Given the description of an element on the screen output the (x, y) to click on. 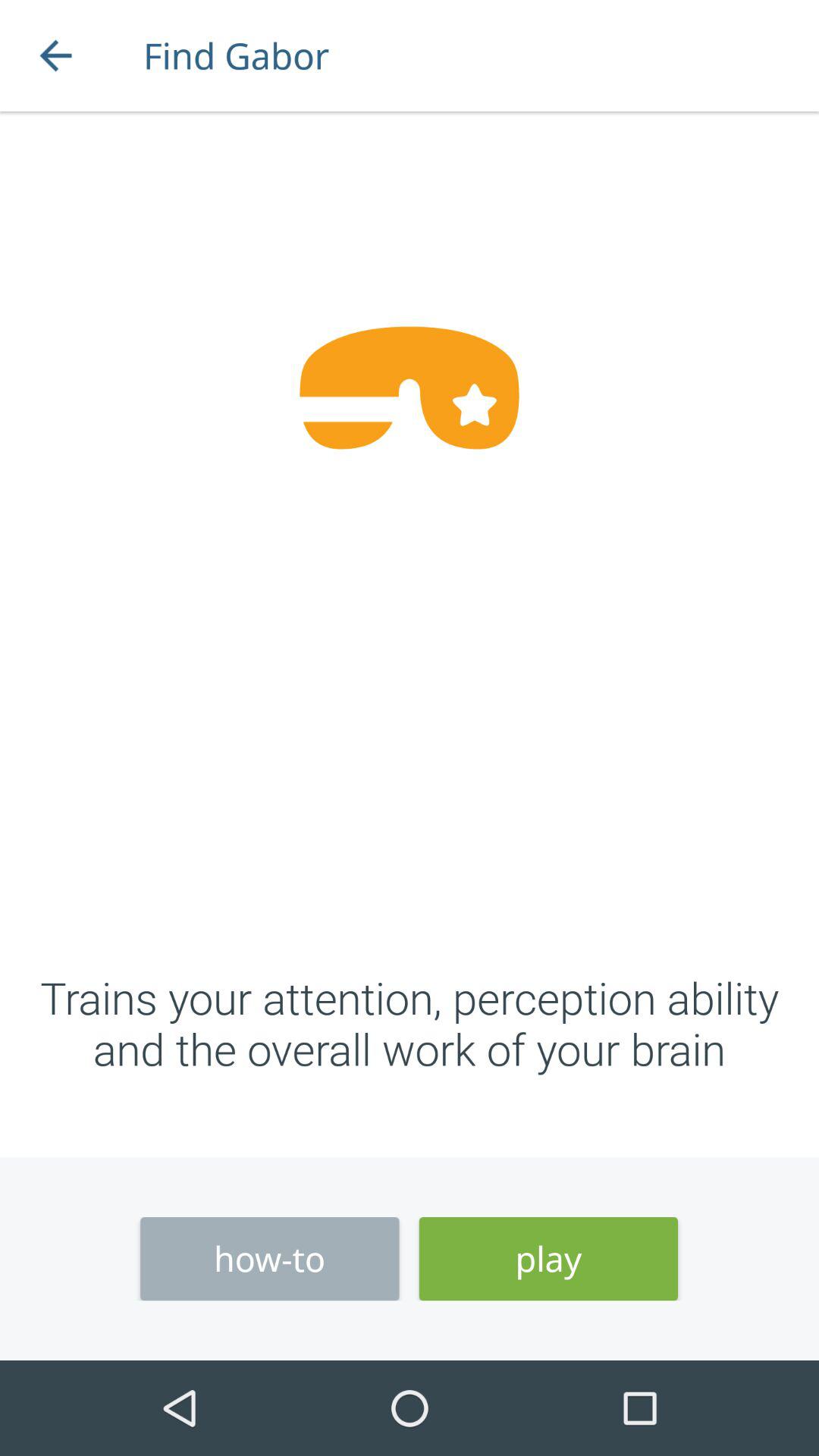
swipe until the play item (548, 1258)
